Given the description of an element on the screen output the (x, y) to click on. 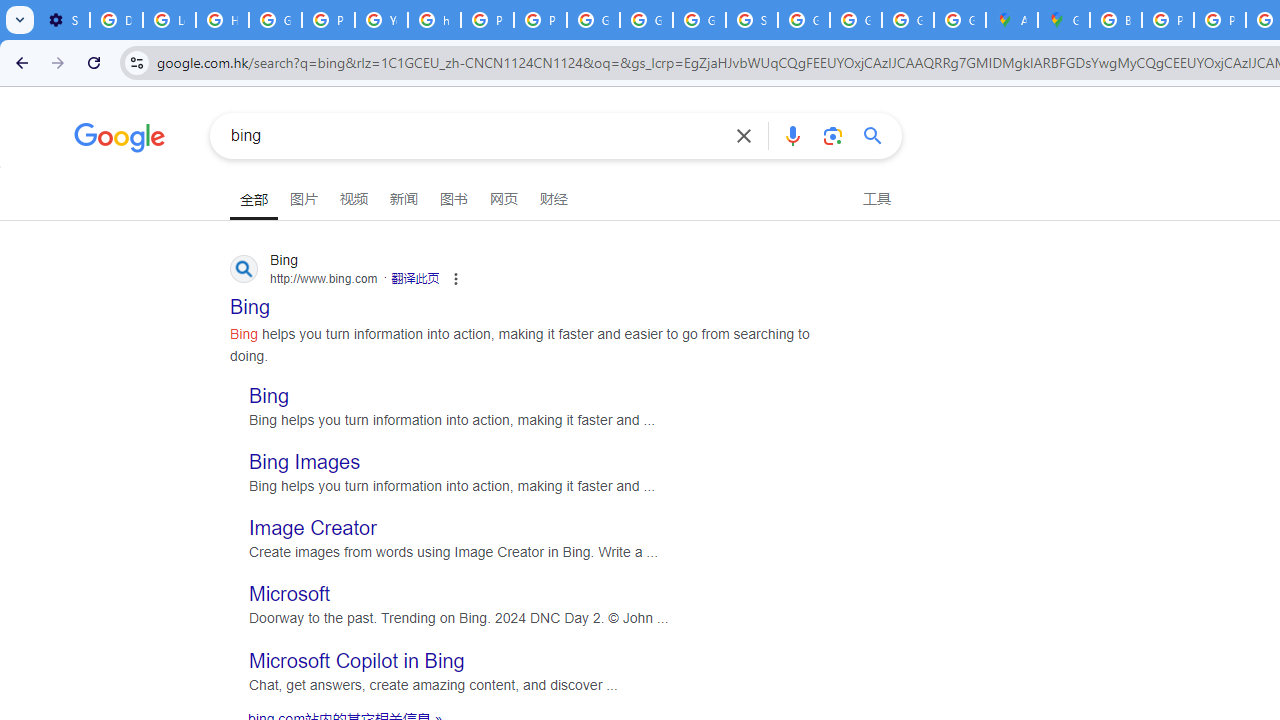
Blogger Policies and Guidelines - Transparency Center (1115, 20)
 Bing Bing http://www.bing.com (250, 300)
Privacy Help Center - Policies Help (1167, 20)
Bing (269, 394)
https://scholar.google.com/ (434, 20)
